Given the description of an element on the screen output the (x, y) to click on. 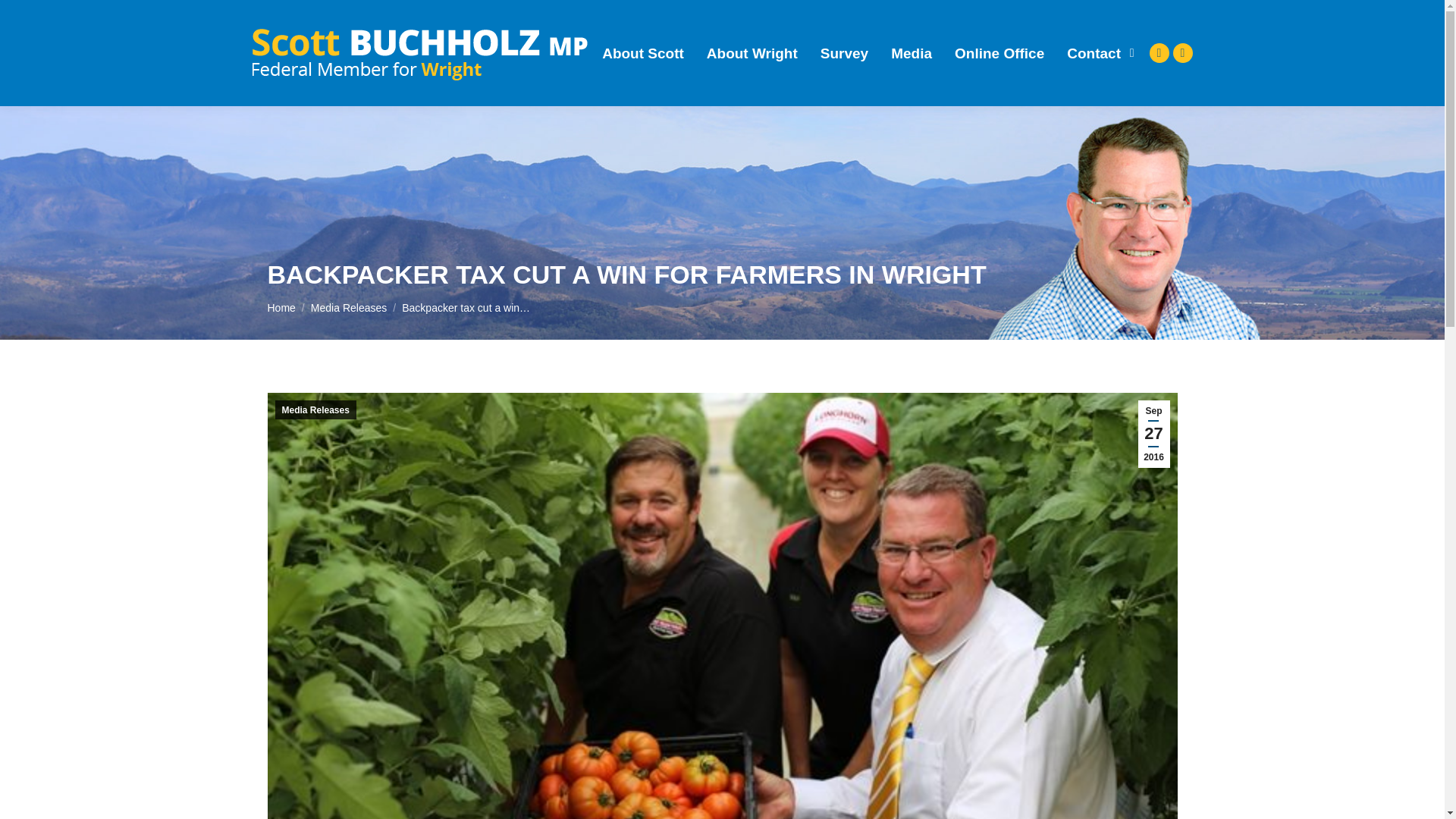
About Scott (642, 52)
About Wright (751, 52)
Online Office (999, 52)
X page opens in new window (1182, 53)
X page opens in new window (1182, 53)
Media Releases (349, 307)
Home (280, 307)
Go! (24, 16)
Facebook page opens in new window (1159, 53)
Facebook page opens in new window (1159, 53)
